Given the description of an element on the screen output the (x, y) to click on. 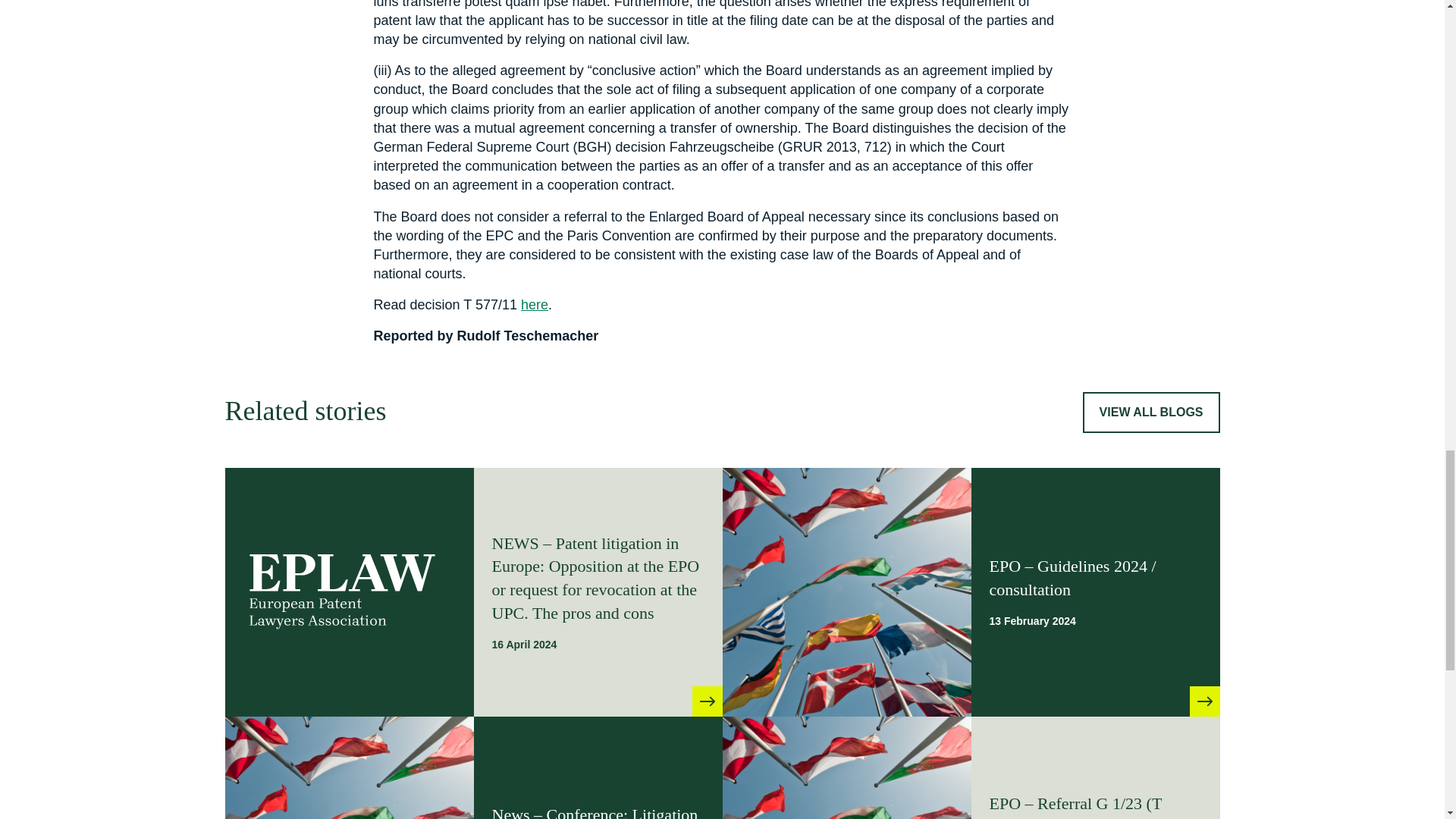
VIEW ALL BLOGS (1151, 412)
